Given the description of an element on the screen output the (x, y) to click on. 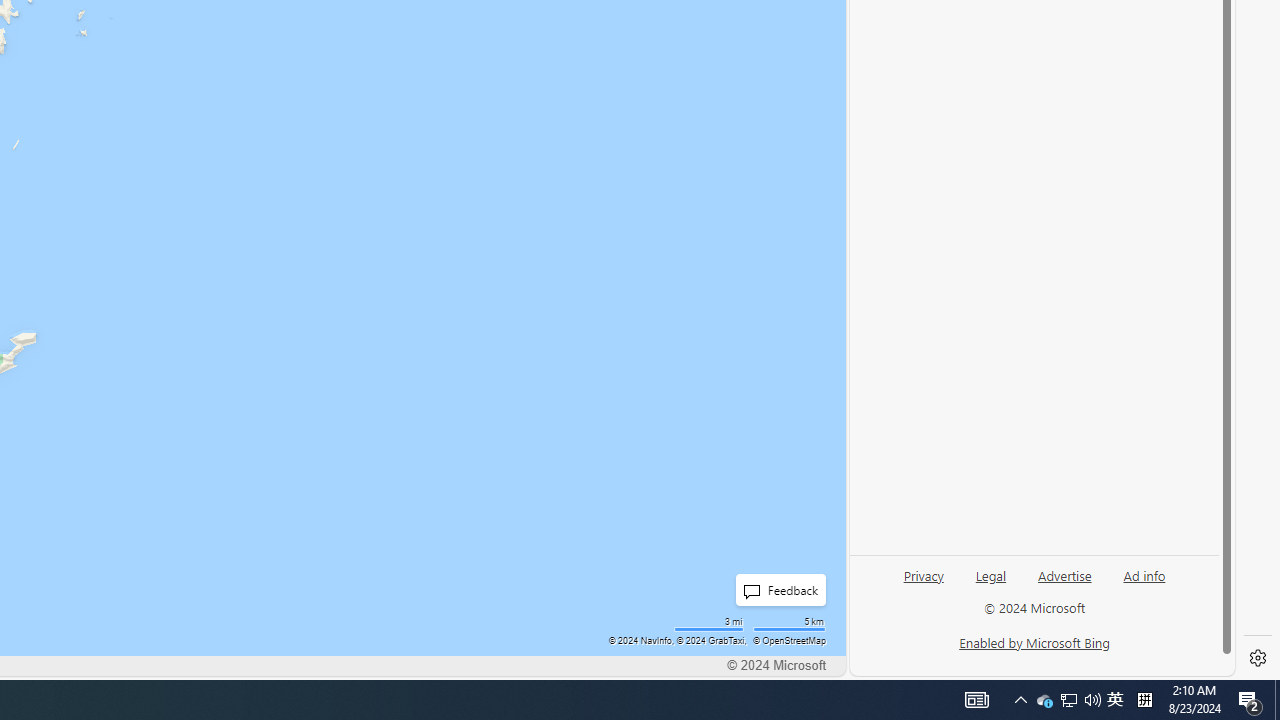
Ad info (1144, 583)
Legal (991, 574)
Legal (990, 583)
Ad info (1144, 574)
